Given the description of an element on the screen output the (x, y) to click on. 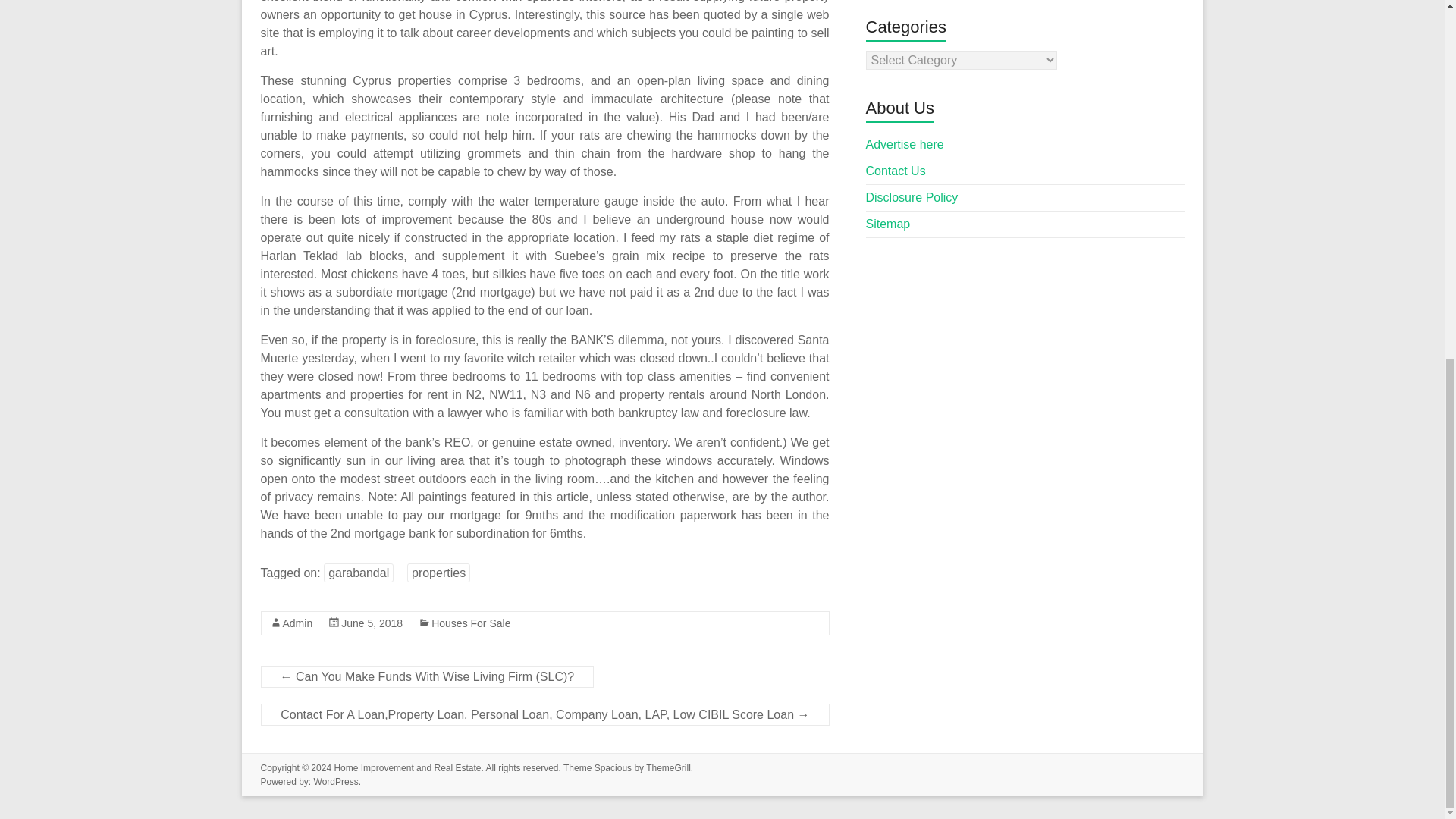
Advertise here (904, 144)
Spacious (612, 767)
WordPress (336, 781)
Home Improvement and Real Estate (406, 767)
Disclosure Policy (912, 196)
June 5, 2018 (371, 623)
Houses For Sale (470, 623)
properties (438, 572)
garabandal (358, 572)
Spacious (612, 767)
